Given the description of an element on the screen output the (x, y) to click on. 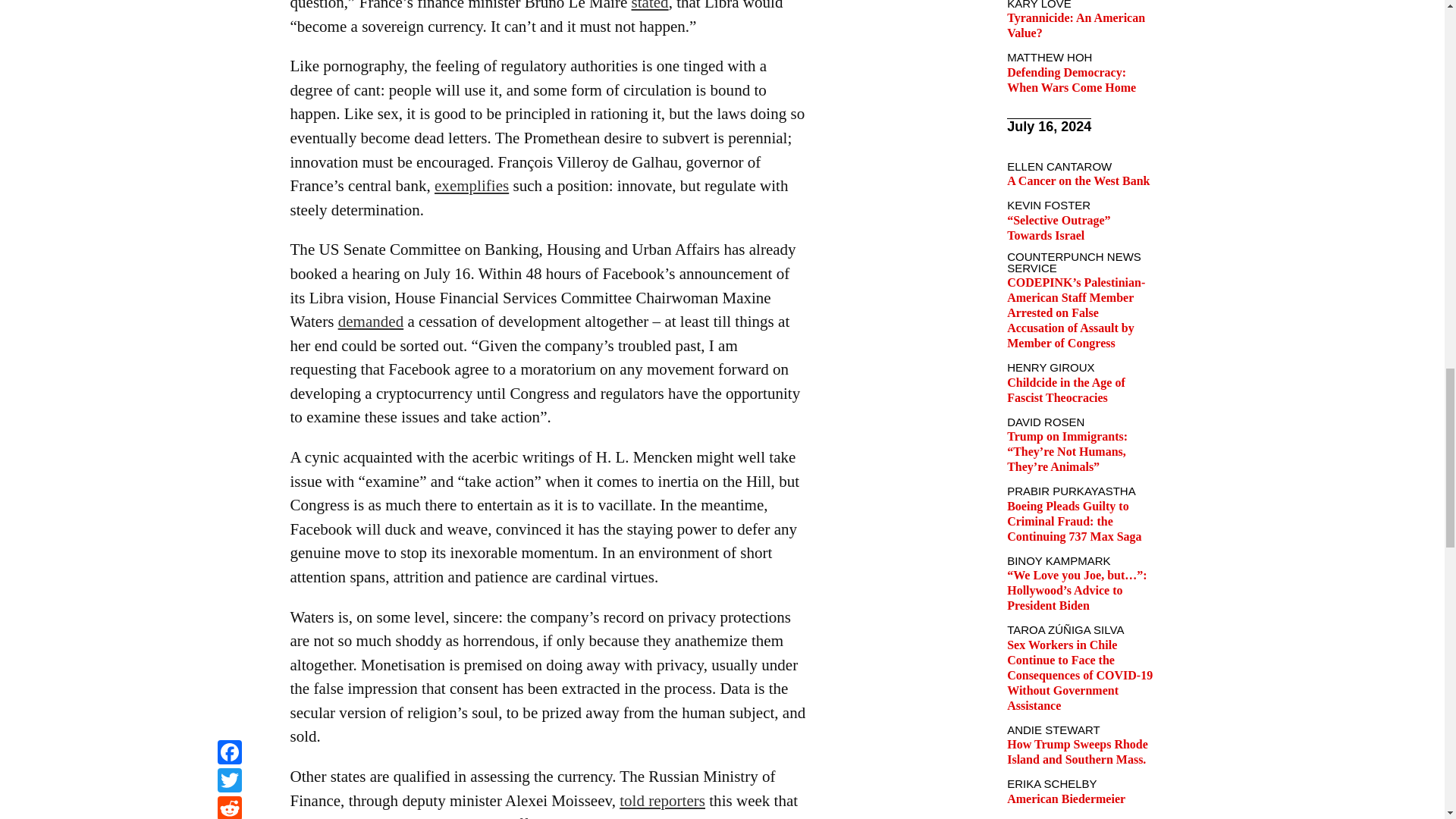
stated (649, 5)
demanded (370, 321)
told reporters (662, 800)
exemplifies (470, 185)
